Given the description of an element on the screen output the (x, y) to click on. 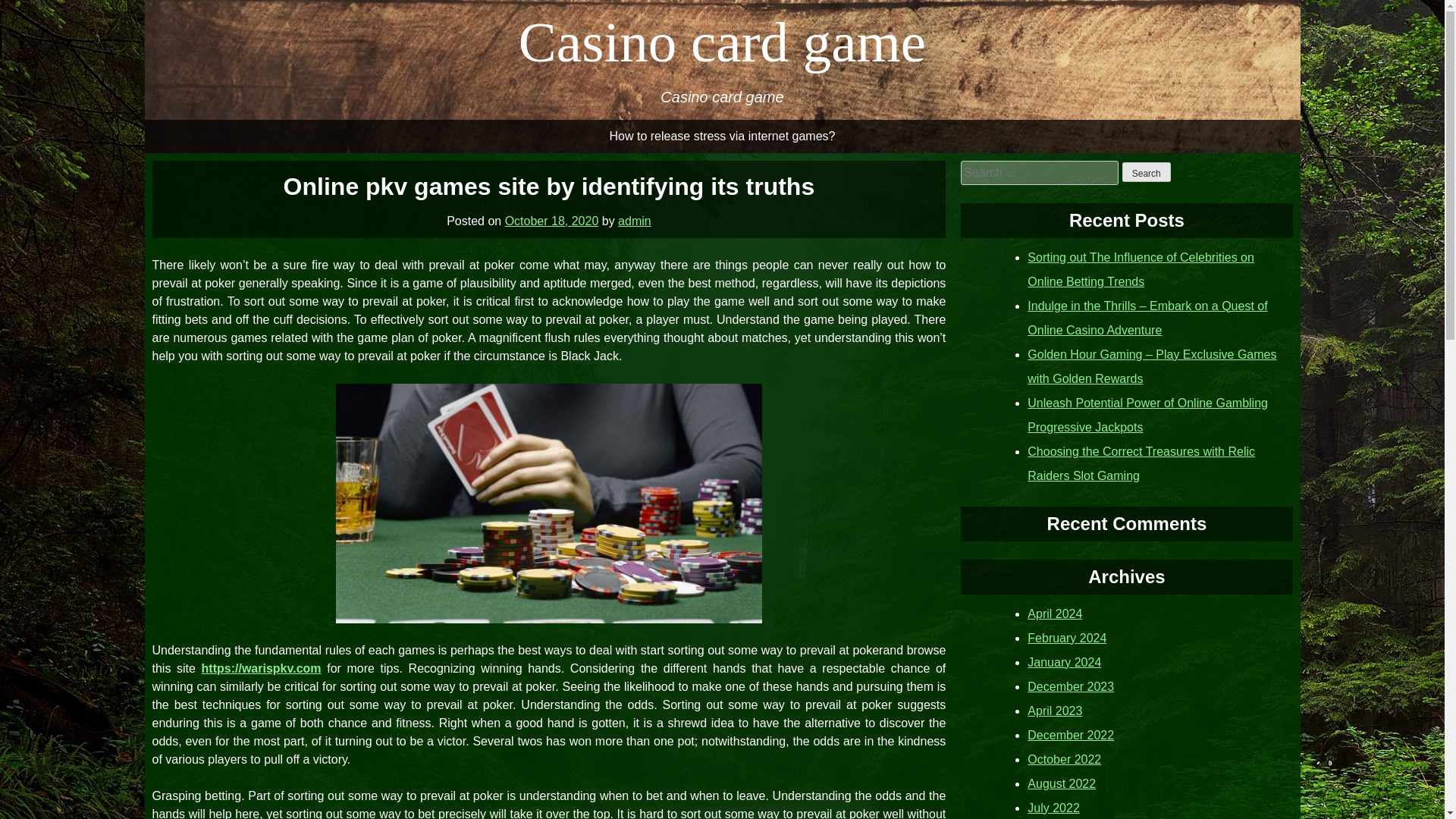
Search (1146, 171)
December 2023 (1070, 685)
October 2022 (1063, 758)
How to release stress via internet games? (722, 136)
April 2024 (1054, 612)
Search (1146, 171)
admin (633, 219)
February 2024 (1066, 636)
April 2023 (1054, 709)
December 2022 (1070, 734)
October 18, 2020 (551, 219)
January 2024 (1063, 661)
July 2022 (1053, 807)
Casino card game (722, 41)
